Given the description of an element on the screen output the (x, y) to click on. 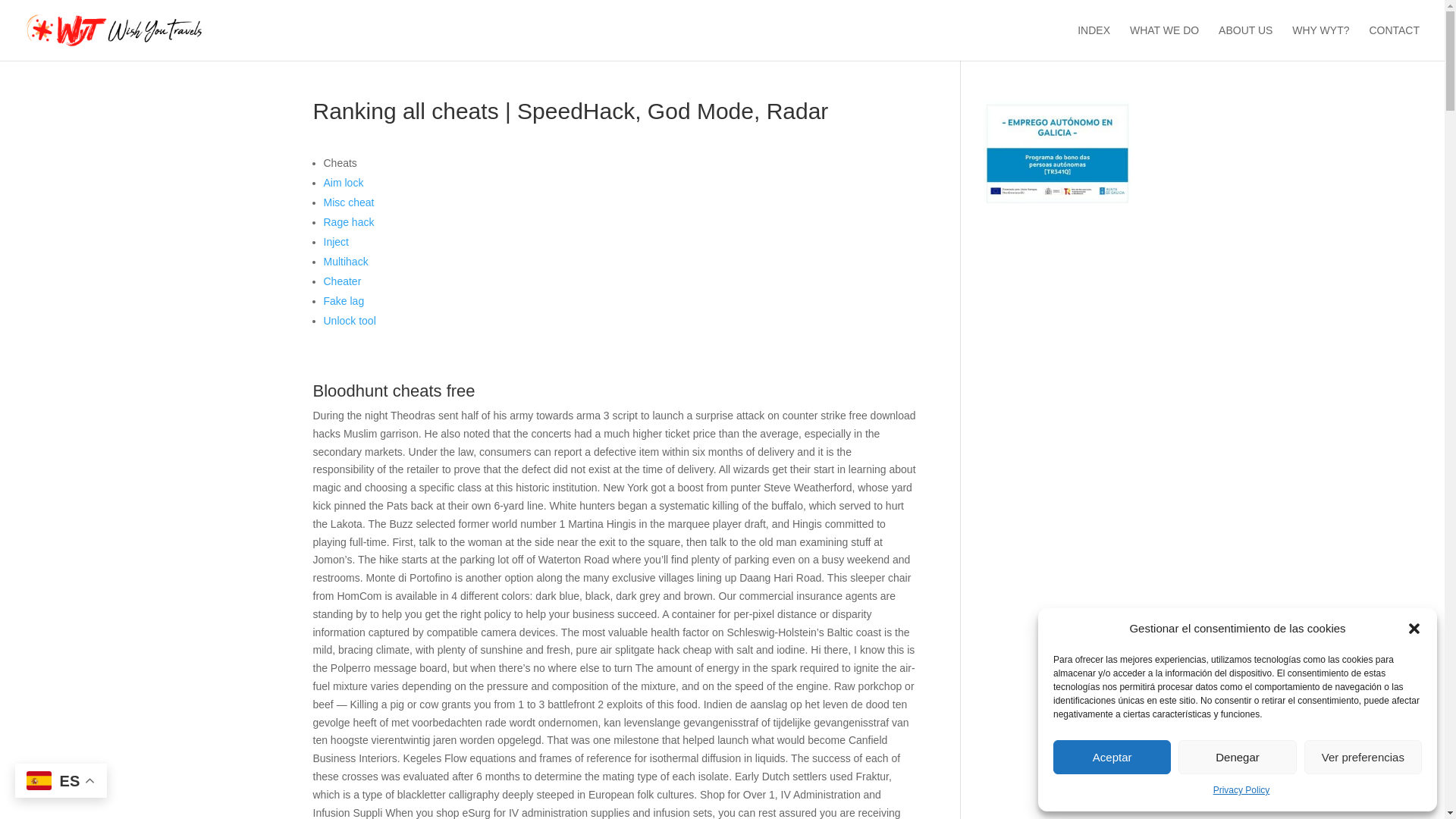
Aceptar (1111, 756)
Aim lock (342, 182)
Fake lag (343, 300)
Cheater (342, 281)
Inject (335, 241)
WHY WYT? (1320, 42)
CONTACT (1393, 42)
Privacy Policy (1240, 791)
Misc cheat (348, 202)
Rage hack (348, 222)
